Given the description of an element on the screen output the (x, y) to click on. 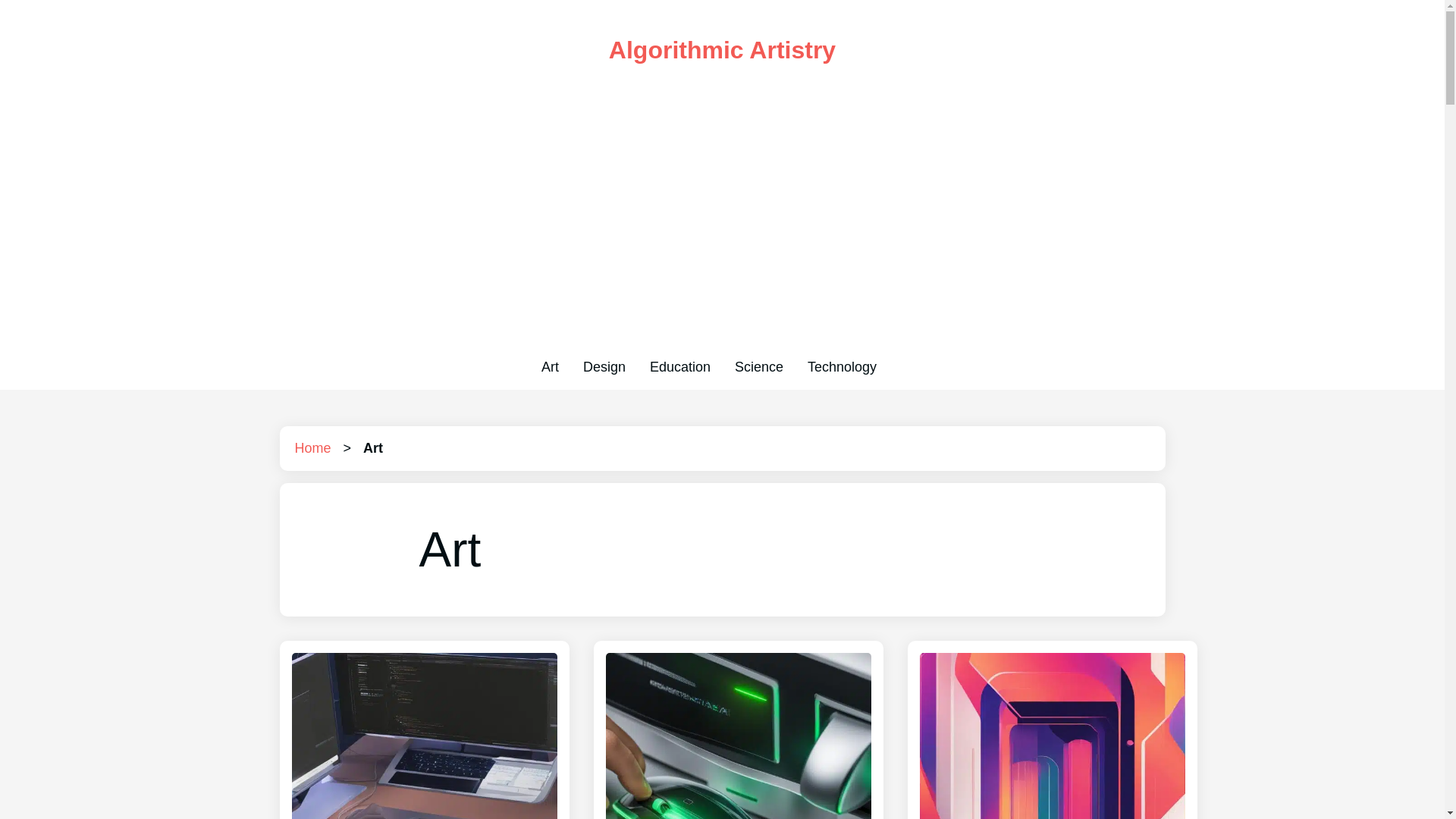
Education (679, 366)
Search for: (901, 367)
Design (604, 366)
Technology (842, 366)
Algorithmic Artistry (721, 49)
Science (759, 366)
Home (312, 447)
Home (312, 447)
Art (550, 366)
